Given the description of an element on the screen output the (x, y) to click on. 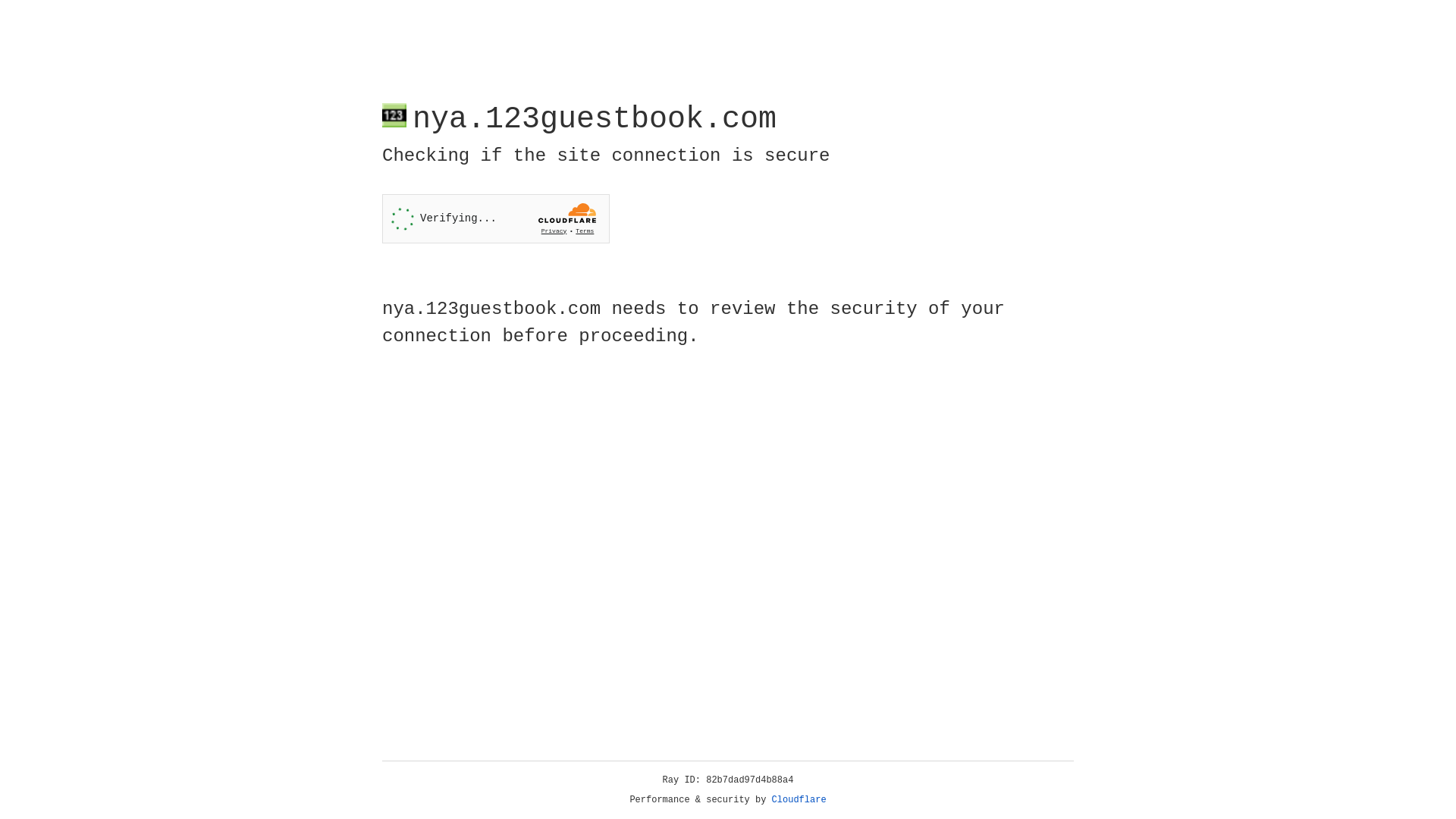
Widget containing a Cloudflare security challenge Element type: hover (495, 218)
Cloudflare Element type: text (798, 799)
